Given the description of an element on the screen output the (x, y) to click on. 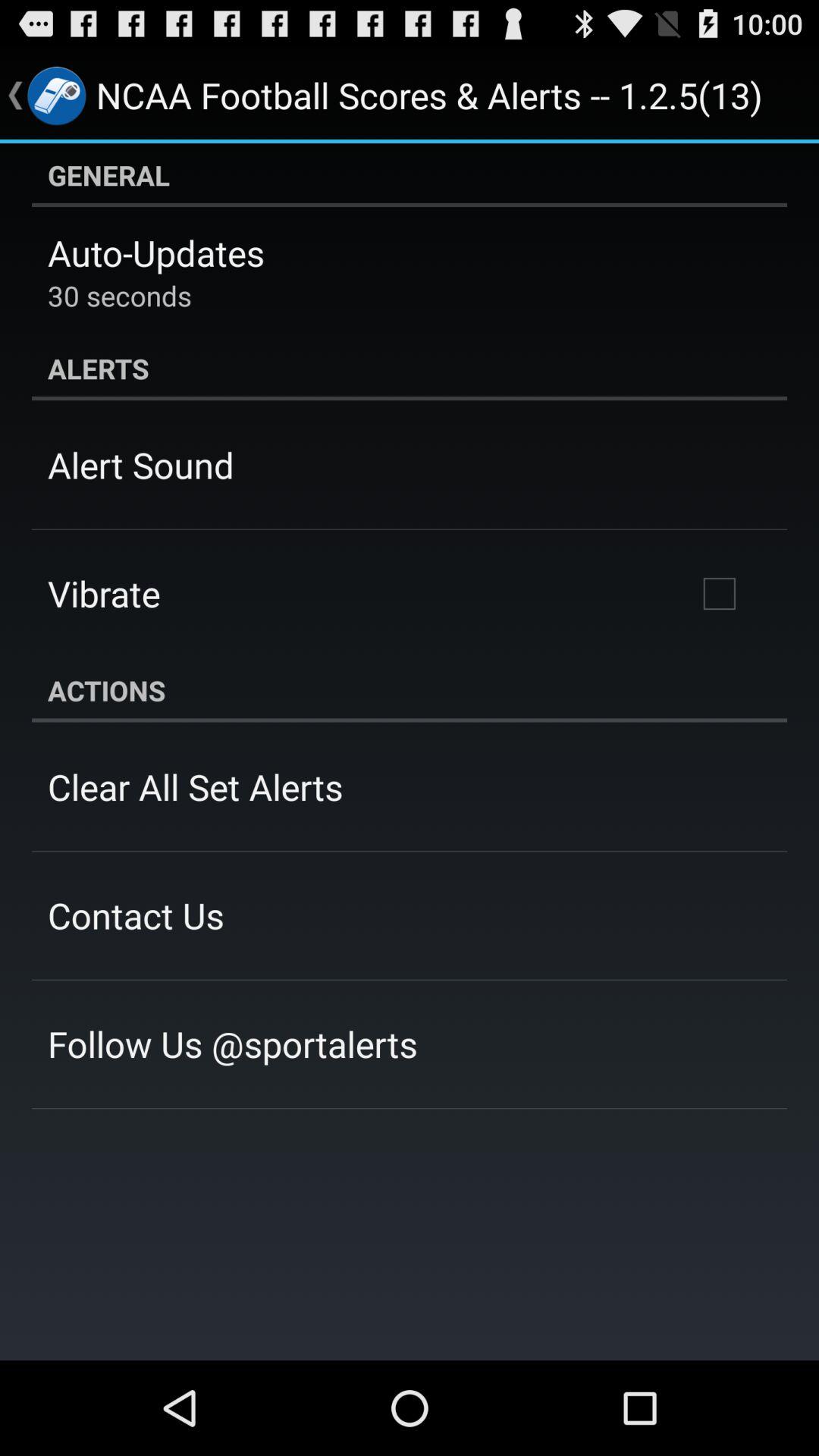
open the icon on the right (719, 593)
